Given the description of an element on the screen output the (x, y) to click on. 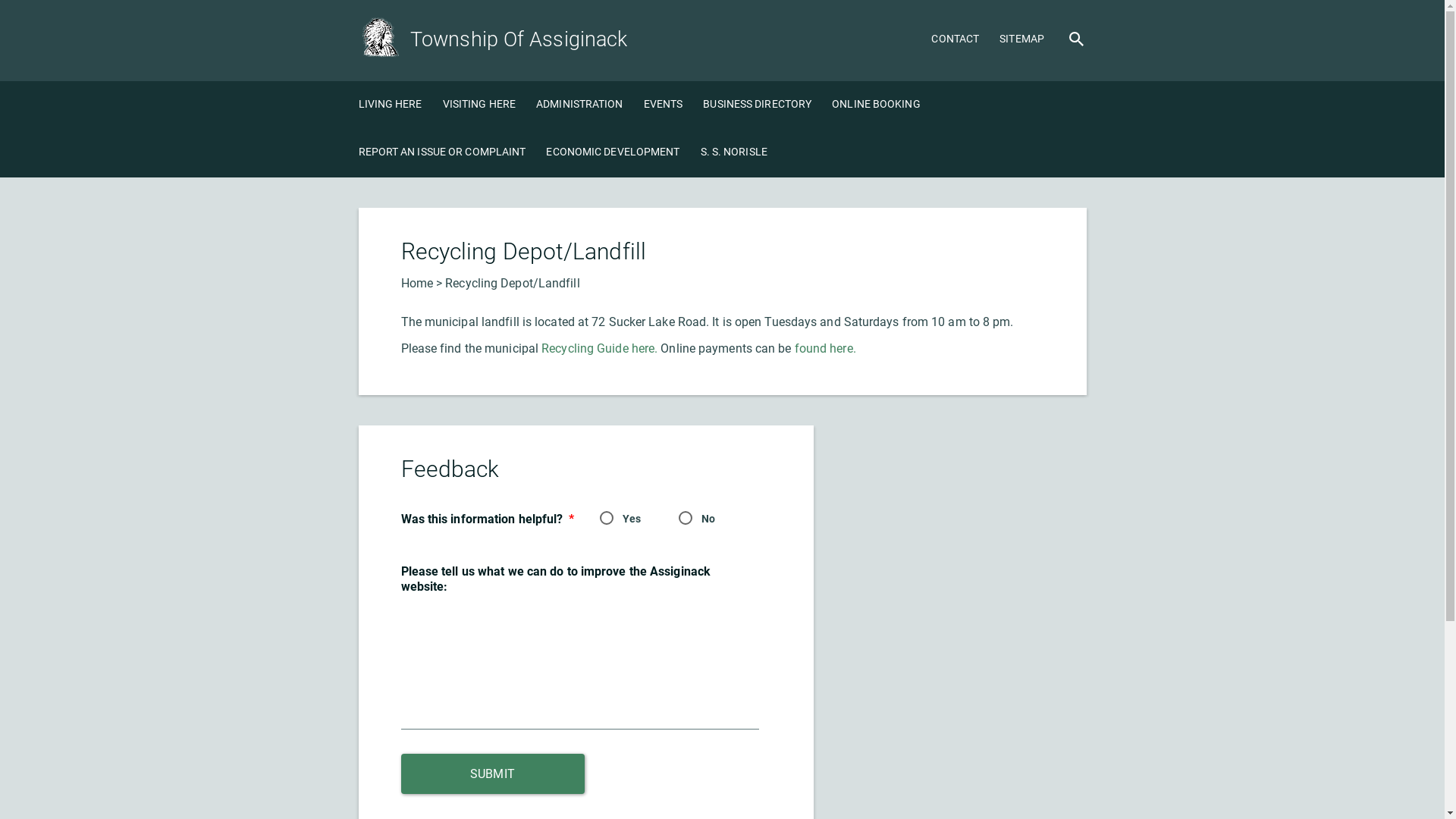
ECONOMIC DEVELOPMENT Element type: text (612, 152)
REPORT AN ISSUE OR COMPLAINT Element type: text (441, 152)
LIVING HERE Element type: text (389, 105)
Recycling Guide here. Element type: text (599, 348)
BUSINESS DIRECTORY Element type: text (756, 105)
Township Of Assiginack Element type: text (492, 39)
VISITING HERE Element type: text (478, 105)
found here. Element type: text (823, 348)
ONLINE BOOKING Element type: text (875, 105)
SITEMAP Element type: text (1021, 39)
EVENTS Element type: text (663, 105)
ADMINISTRATION Element type: text (579, 105)
S. S. NORISLE Element type: text (733, 152)
CONTACT Element type: text (955, 39)
SEARCH Element type: text (1076, 38)
Submit Element type: text (491, 773)
Home Element type: text (416, 283)
